Given the description of an element on the screen output the (x, y) to click on. 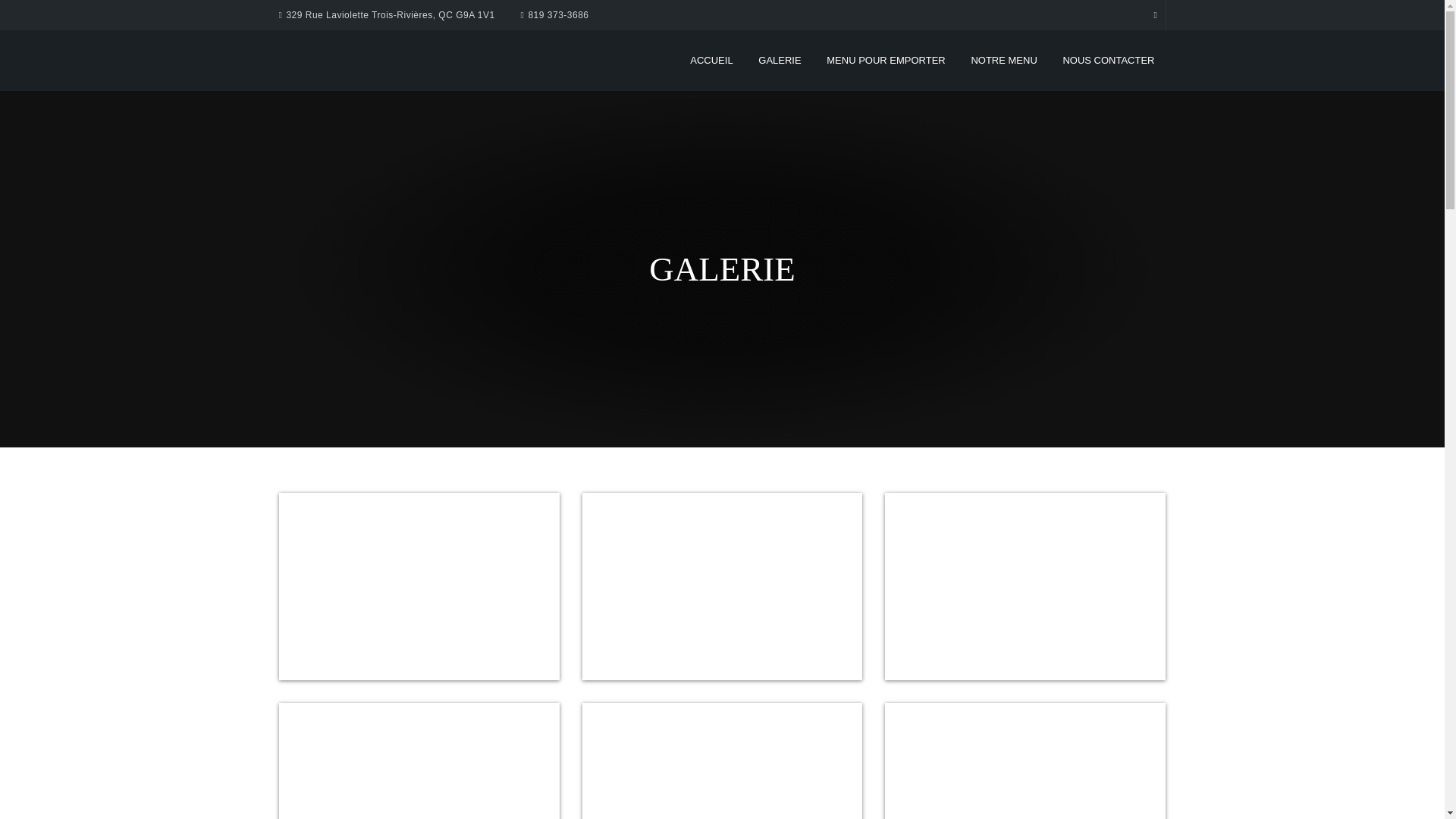
MENU POUR EMPORTER Element type: text (886, 60)
NOTRE MENU Element type: text (1003, 60)
GALERIE Element type: text (779, 60)
NOUS CONTACTER Element type: text (1108, 60)
ACCUEIL Element type: text (710, 60)
